Given the description of an element on the screen output the (x, y) to click on. 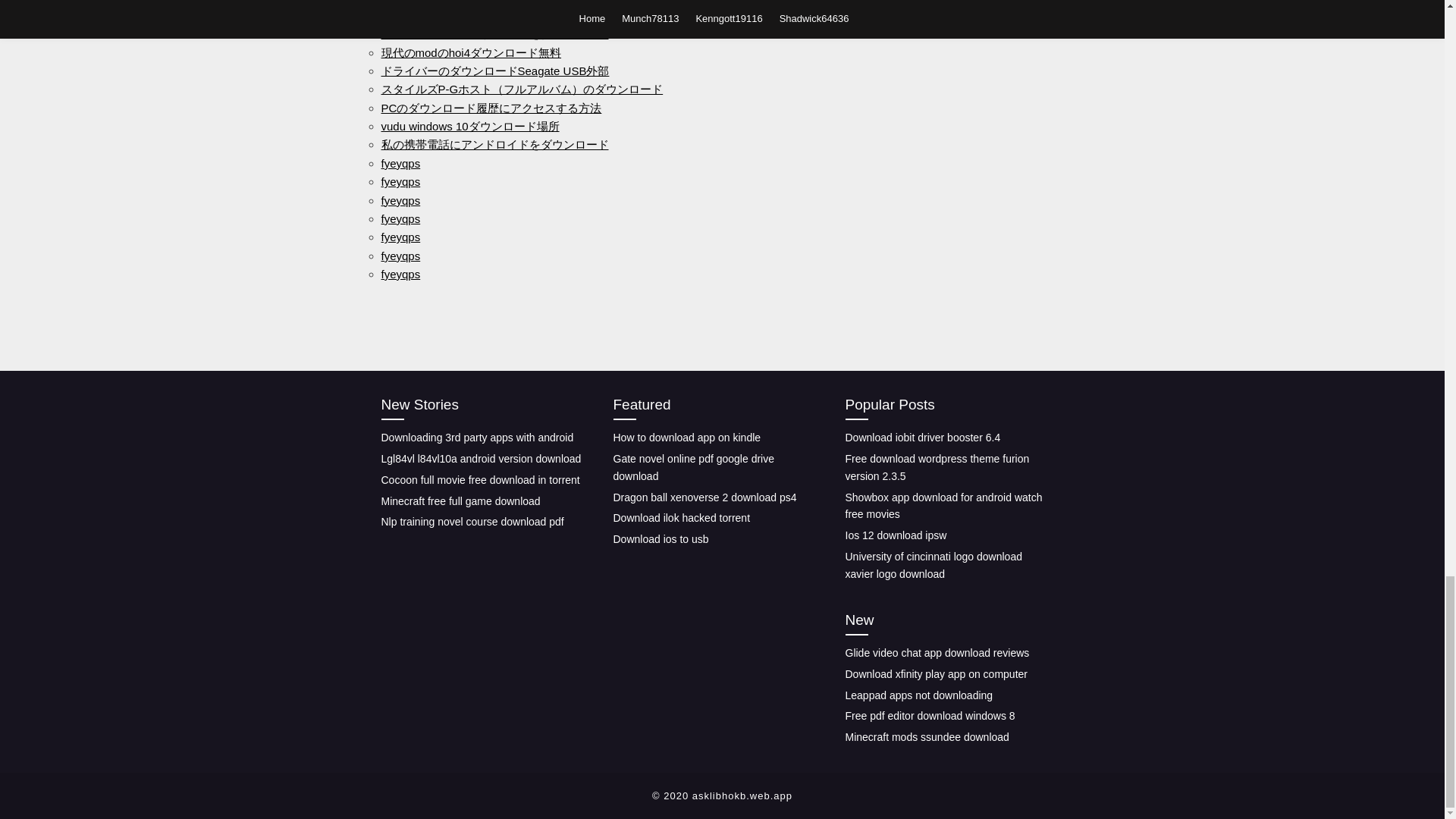
Nlp training novel course download pdf (471, 521)
fyeyqps (400, 236)
fyeyqps (400, 199)
fyeyqps (400, 218)
fyeyqps (400, 255)
How to download app on kindle (686, 437)
fyeyqps (400, 181)
Cocoon full movie free download in torrent (479, 480)
Minecraft free full game download (460, 500)
University of cincinnati logo download xavier logo download (933, 564)
